Given the description of an element on the screen output the (x, y) to click on. 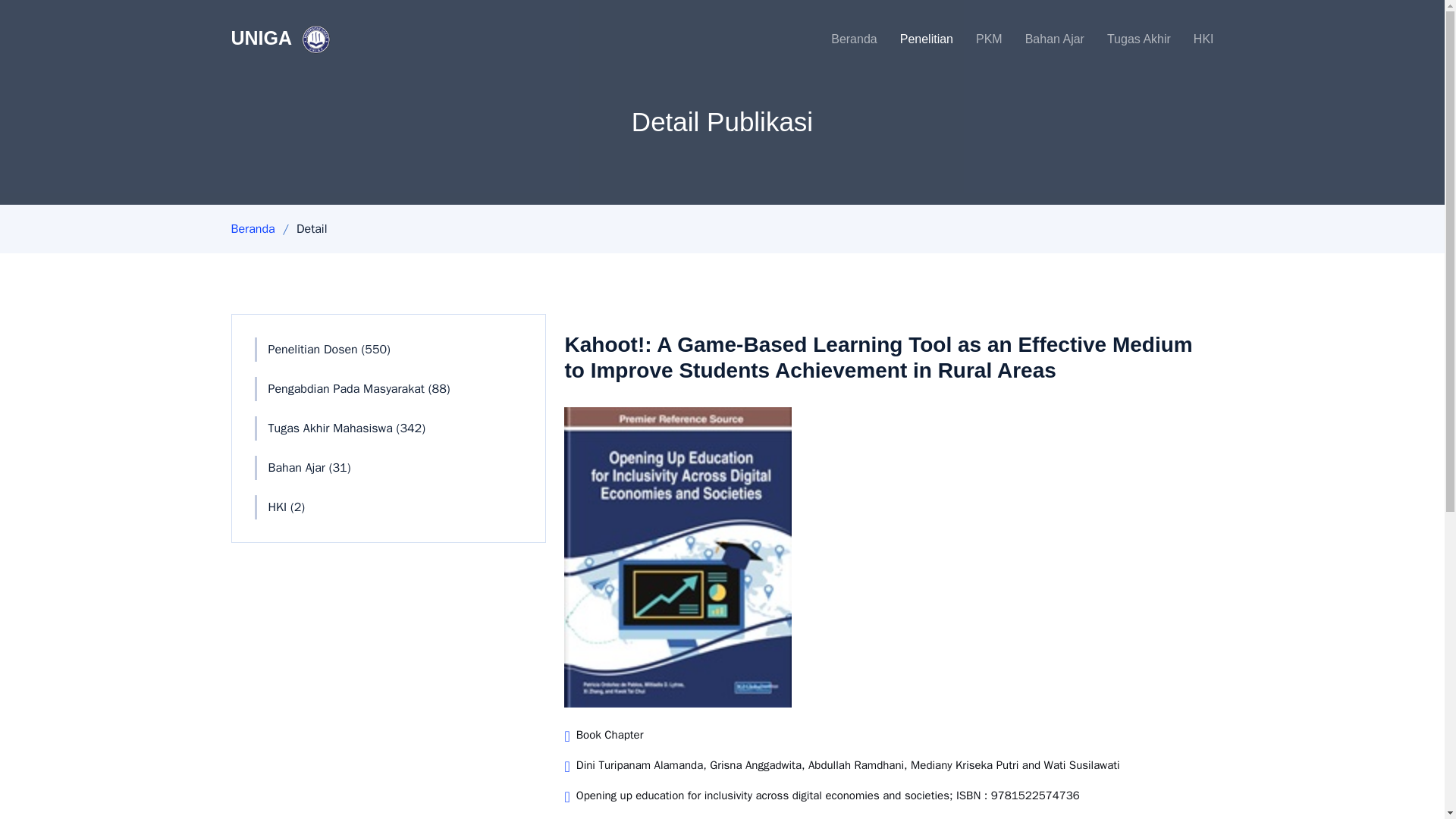
Penelitian (915, 39)
Bahan Ajar (1043, 39)
Tugas Akhir (1127, 39)
UNIGA   (282, 39)
PKM (978, 39)
Beranda (252, 228)
HKI (1192, 39)
Beranda (842, 39)
